Given the description of an element on the screen output the (x, y) to click on. 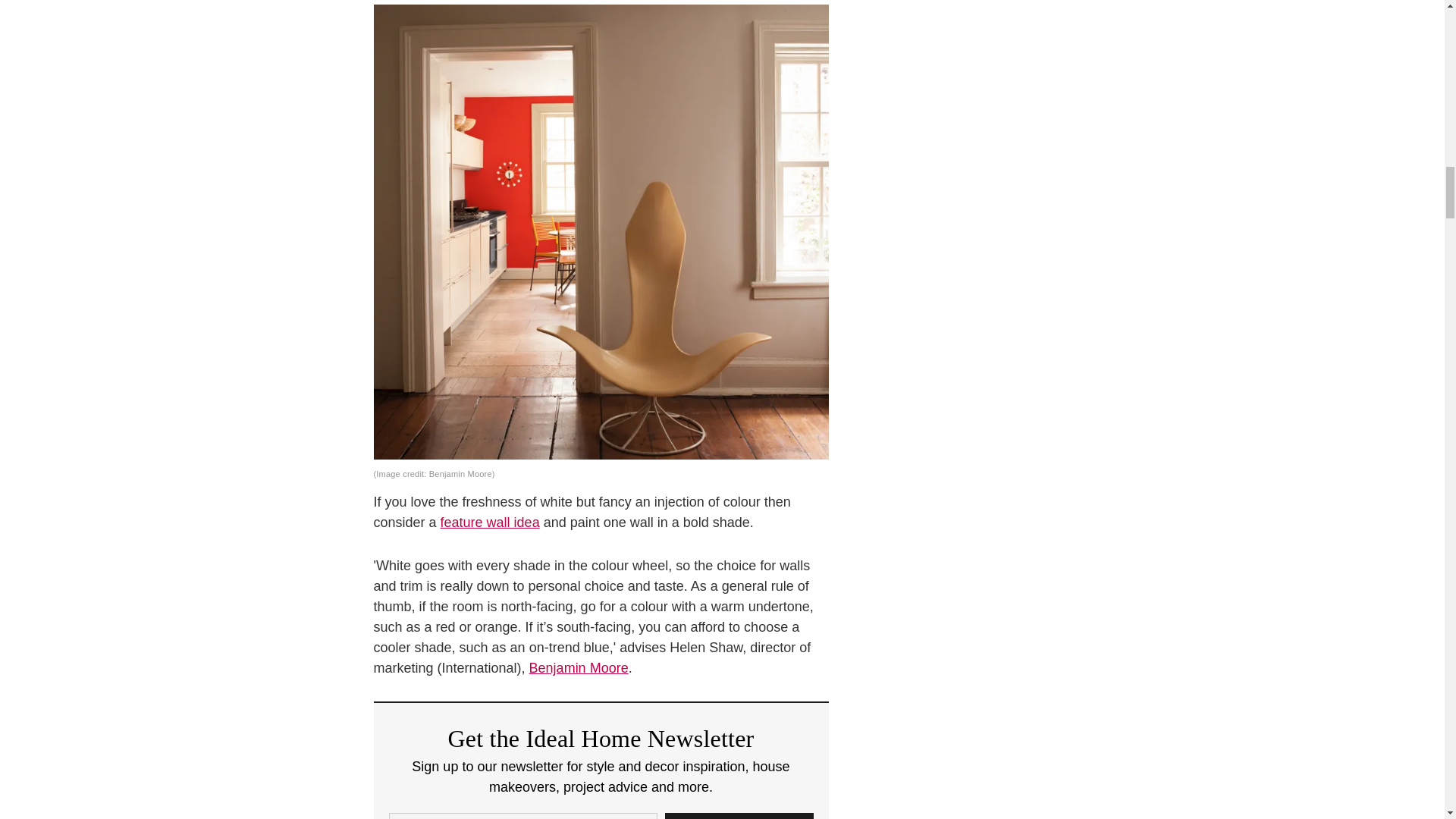
Sign me up (737, 816)
